Given the description of an element on the screen output the (x, y) to click on. 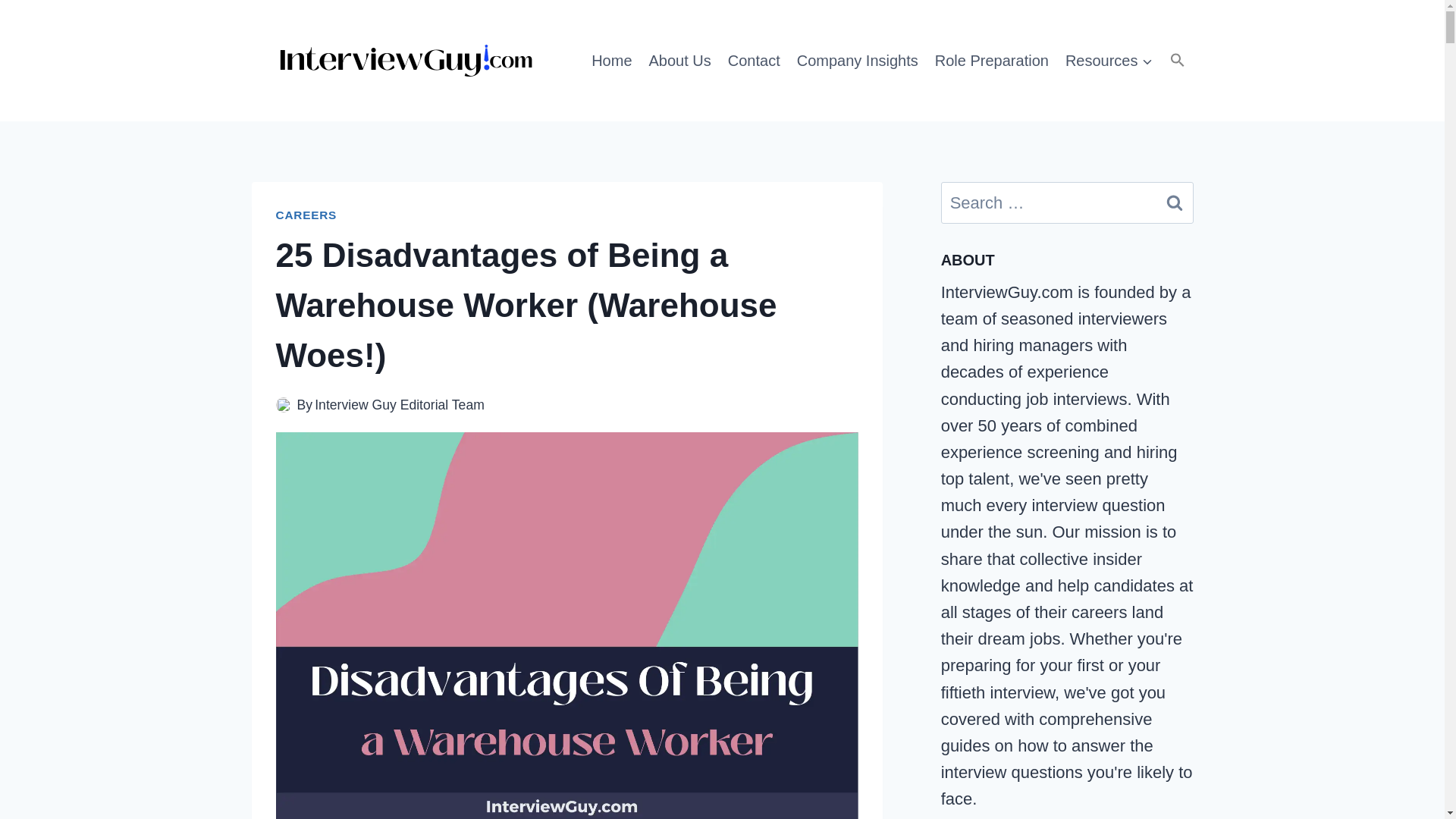
Company Insights (857, 60)
Resources (1109, 60)
Interview Guy Editorial Team (399, 404)
About Us (679, 60)
Role Preparation (991, 60)
Search (1174, 202)
Search (1174, 202)
CAREERS (306, 214)
